Given the description of an element on the screen output the (x, y) to click on. 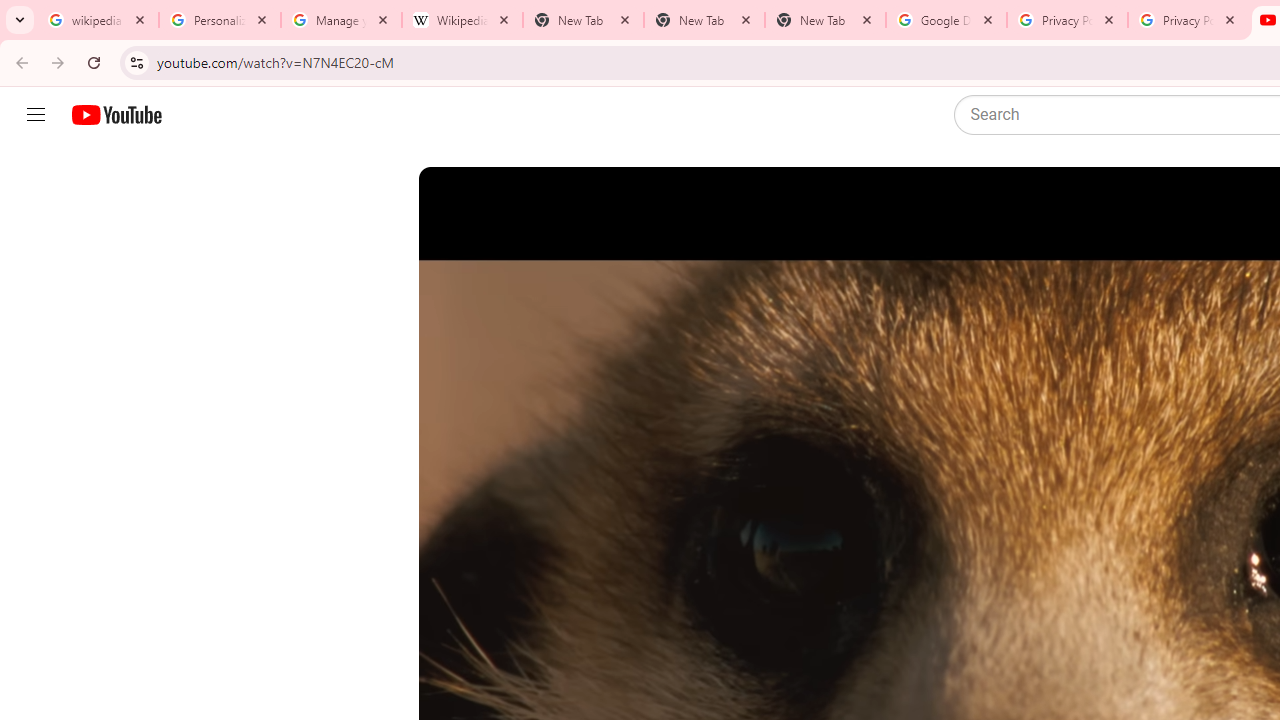
Google Drive: Sign-in (946, 20)
